Given the description of an element on the screen output the (x, y) to click on. 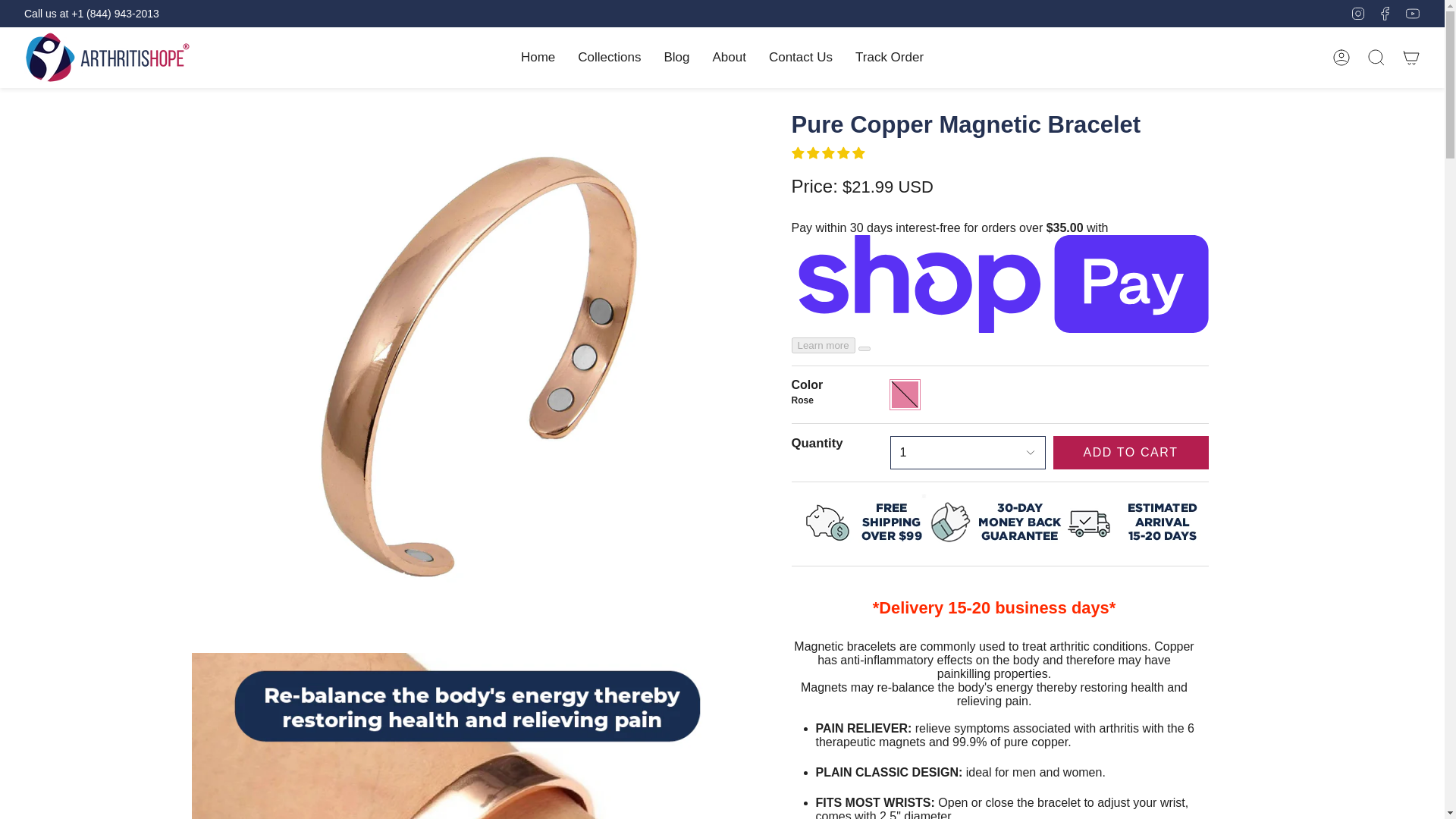
Blog (676, 57)
ArthritisHope on YouTube (1413, 11)
Home (537, 57)
Track Order (889, 57)
ArthritisHope on Facebook (1385, 11)
About (728, 57)
Account (1340, 57)
Collections (609, 57)
My Account (1340, 57)
Search (1375, 57)
